Given the description of an element on the screen output the (x, y) to click on. 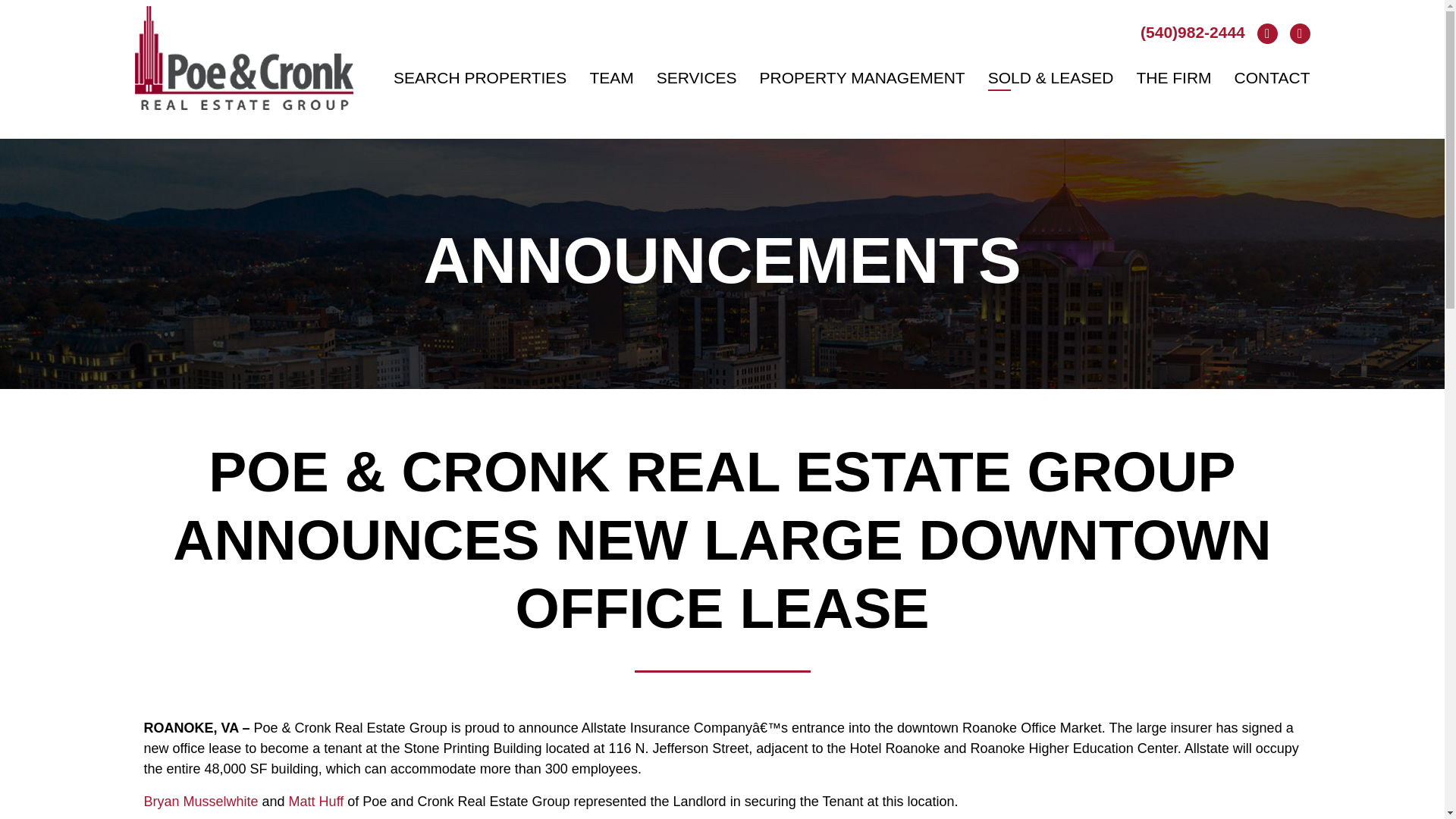
Services (696, 77)
Facebook (1263, 31)
SERVICES (696, 77)
SEARCH PROPERTIES (479, 77)
Property Management (862, 77)
CONTACT (1272, 77)
THE FIRM (1173, 77)
TEAM (611, 77)
Bryan Musselwhite (201, 801)
PROPERTY MANAGEMENT (862, 77)
Contact (1272, 77)
Team (611, 77)
The Firm (1173, 77)
Search Properties (479, 77)
Matt Huff (315, 801)
